Given the description of an element on the screen output the (x, y) to click on. 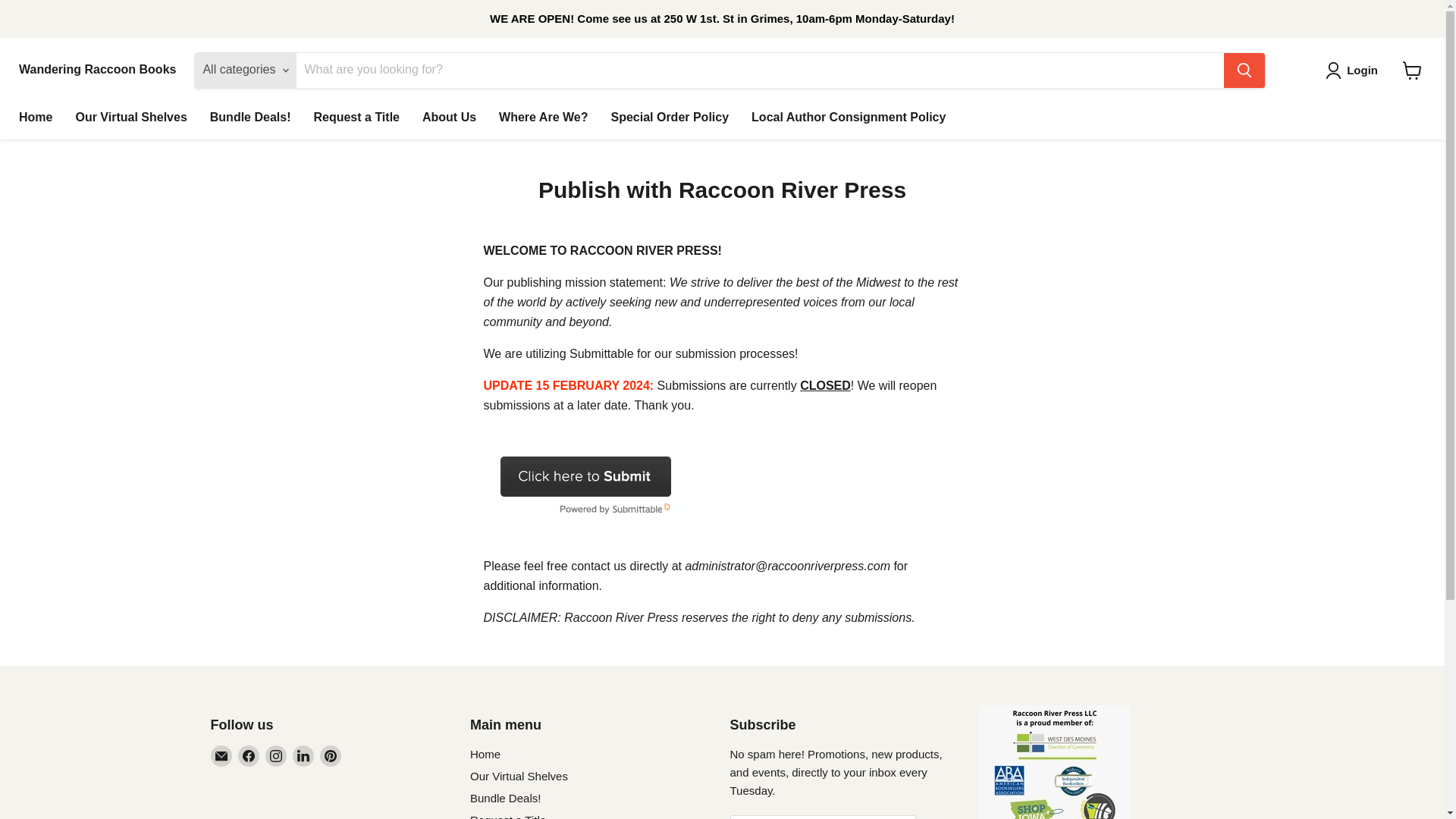
Bundle Deals! (505, 797)
View cart (1411, 69)
Request a Title (355, 117)
Request a Title (508, 816)
Instagram (275, 755)
LinkedIn (303, 755)
Where Are We? (542, 117)
Wandering Raccoon Books (97, 69)
Find us on Facebook (248, 755)
Bundle Deals! (250, 117)
